Given the description of an element on the screen output the (x, y) to click on. 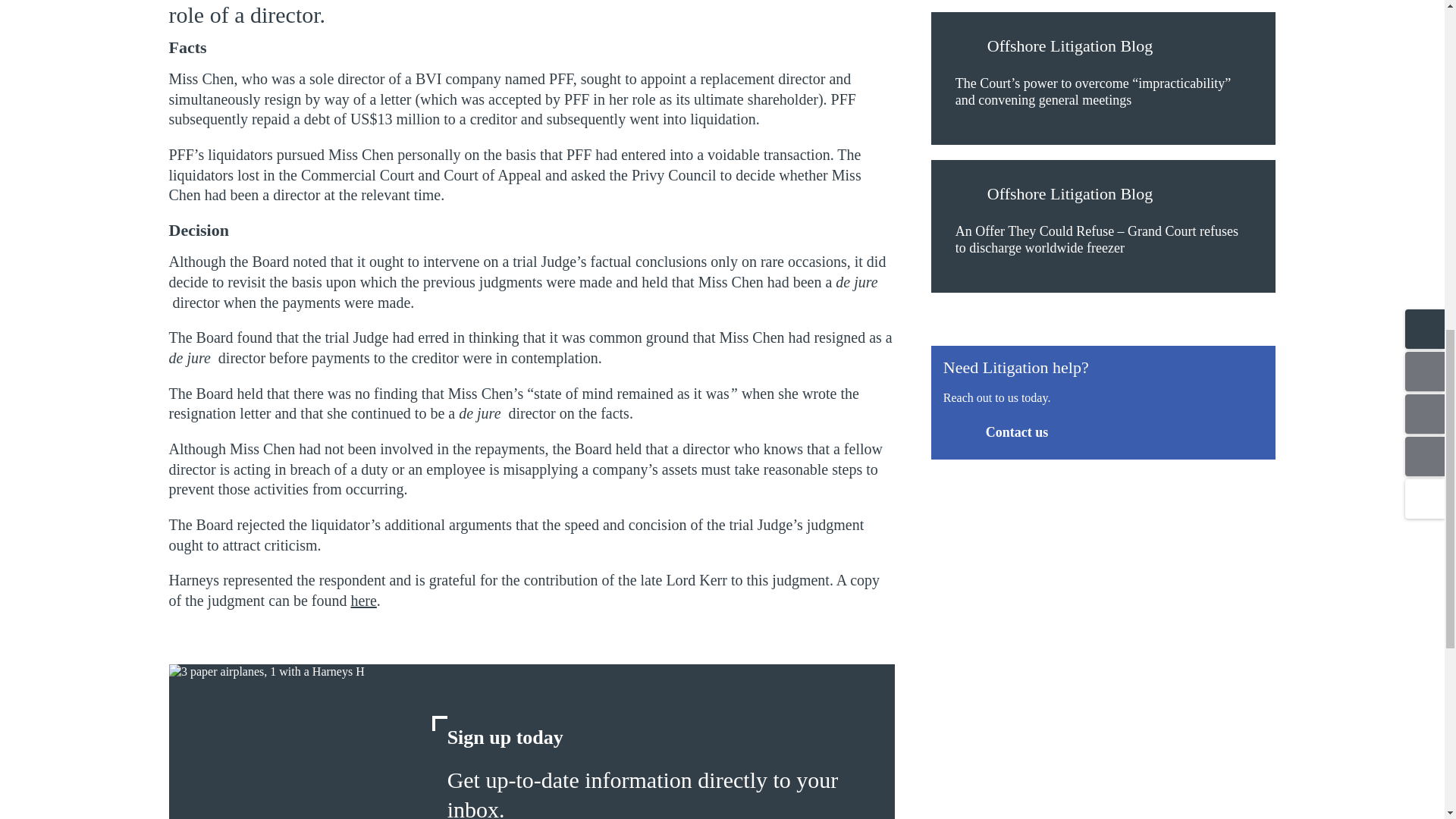
Contact us (995, 431)
Click to open (362, 600)
here (362, 600)
blogs (967, 196)
blogs (967, 48)
